Given the description of an element on the screen output the (x, y) to click on. 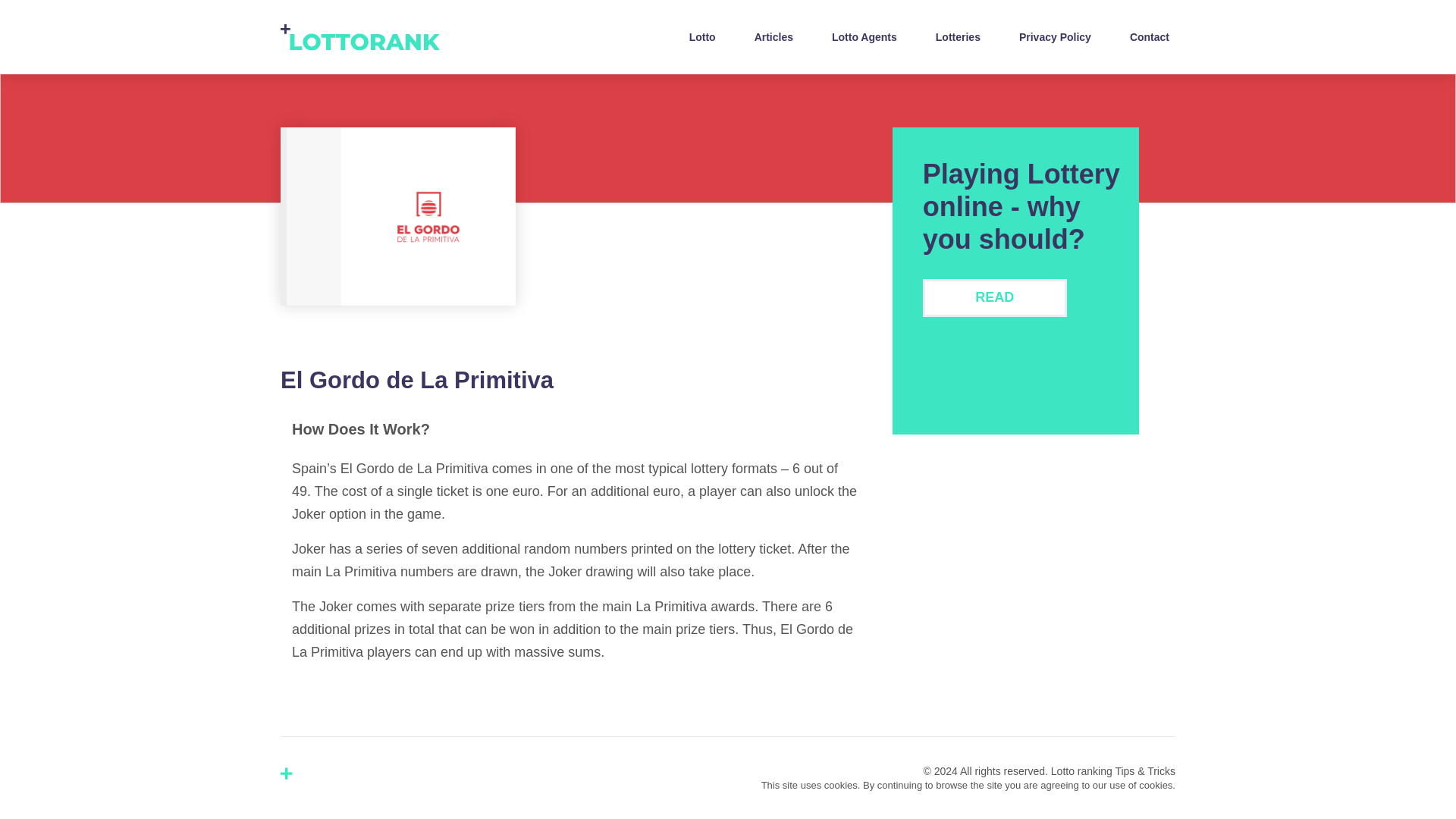
Privacy Policy (1055, 36)
READ (995, 297)
Lotto Agents (863, 36)
Contact (1149, 36)
Lotto (702, 36)
Lotteries (958, 36)
Articles (773, 36)
